Given the description of an element on the screen output the (x, y) to click on. 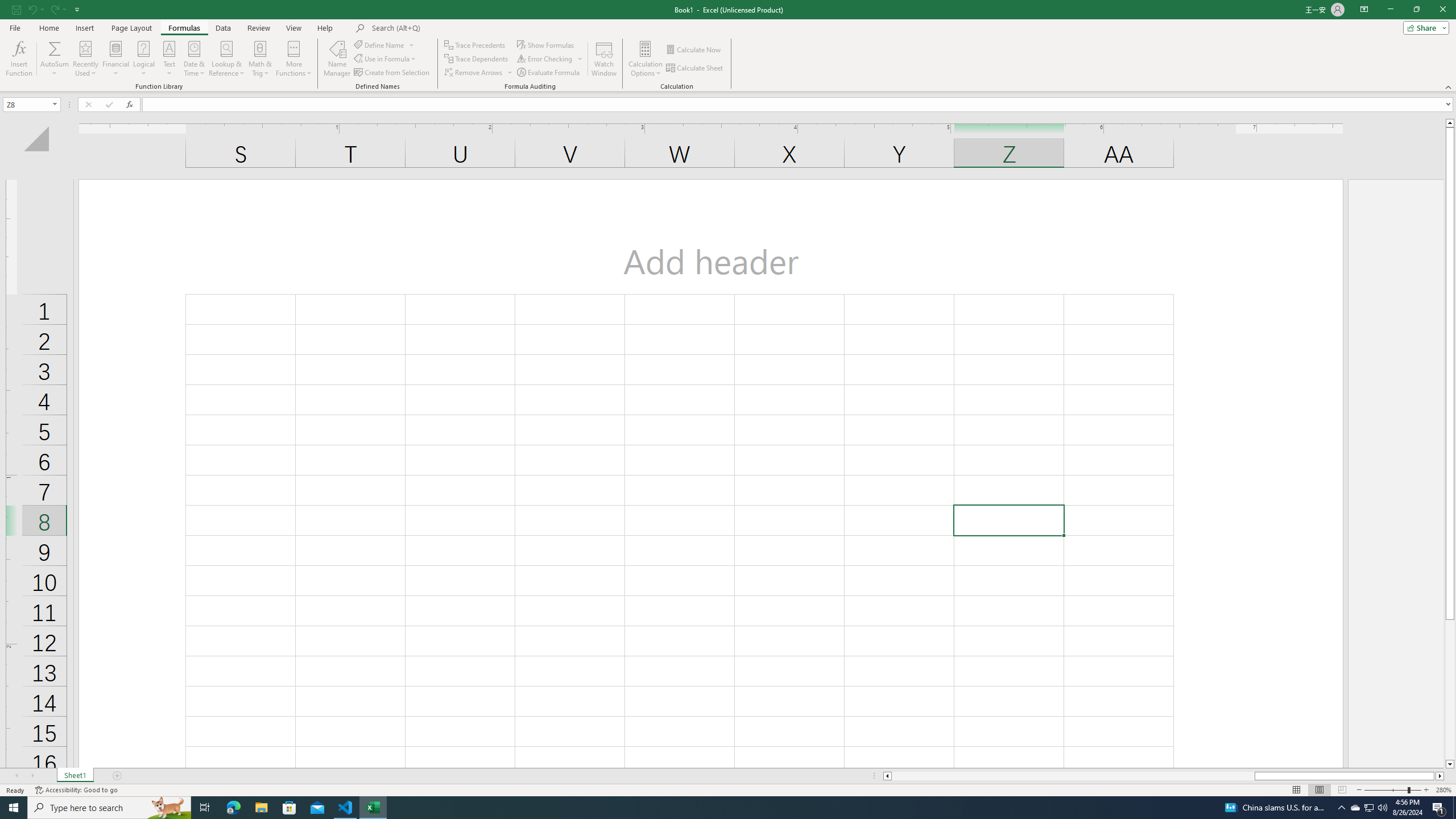
Recently Used (85, 58)
Watch Window (603, 58)
